Given the description of an element on the screen output the (x, y) to click on. 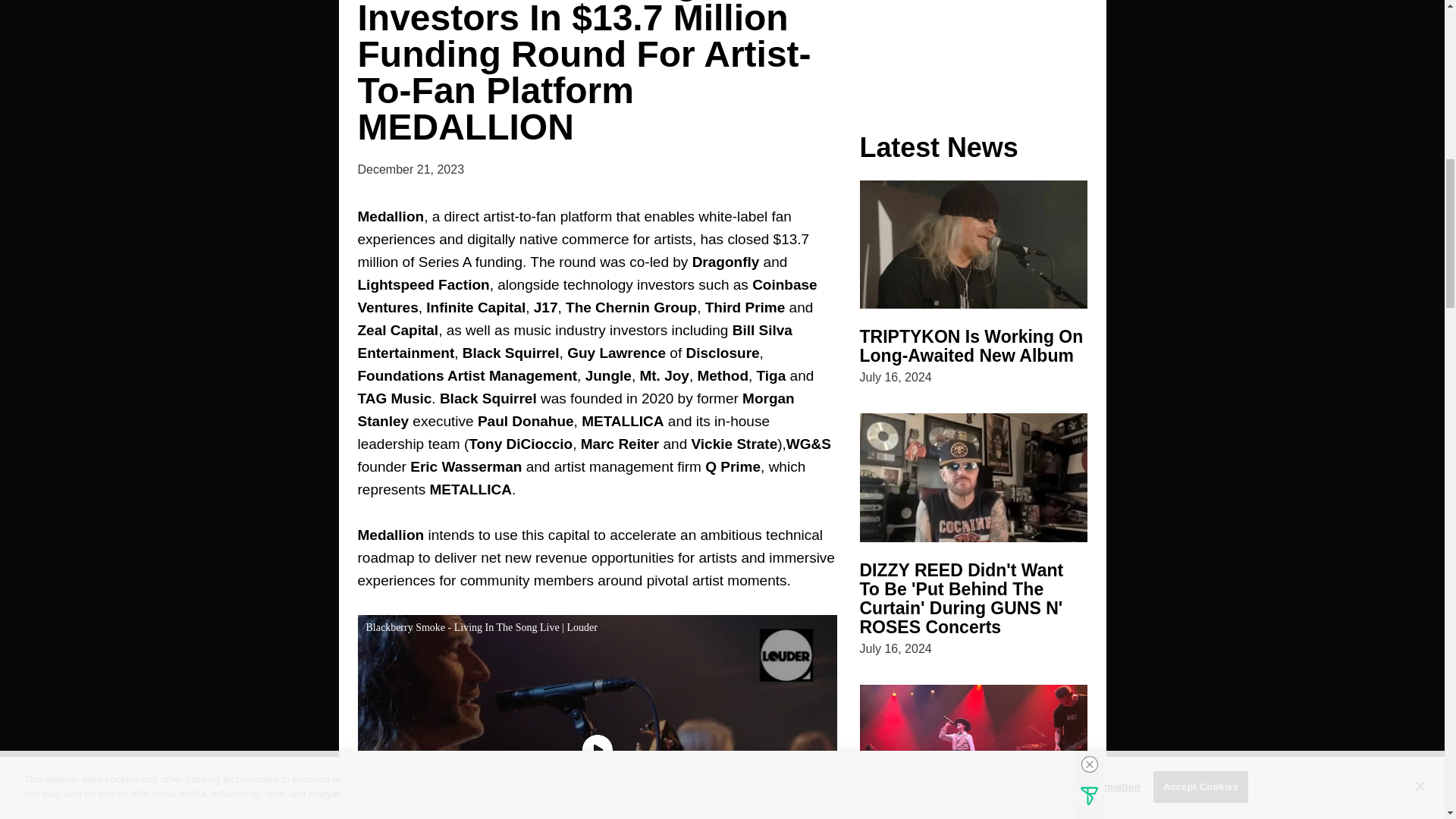
3rd party ad content (973, 44)
